Given the description of an element on the screen output the (x, y) to click on. 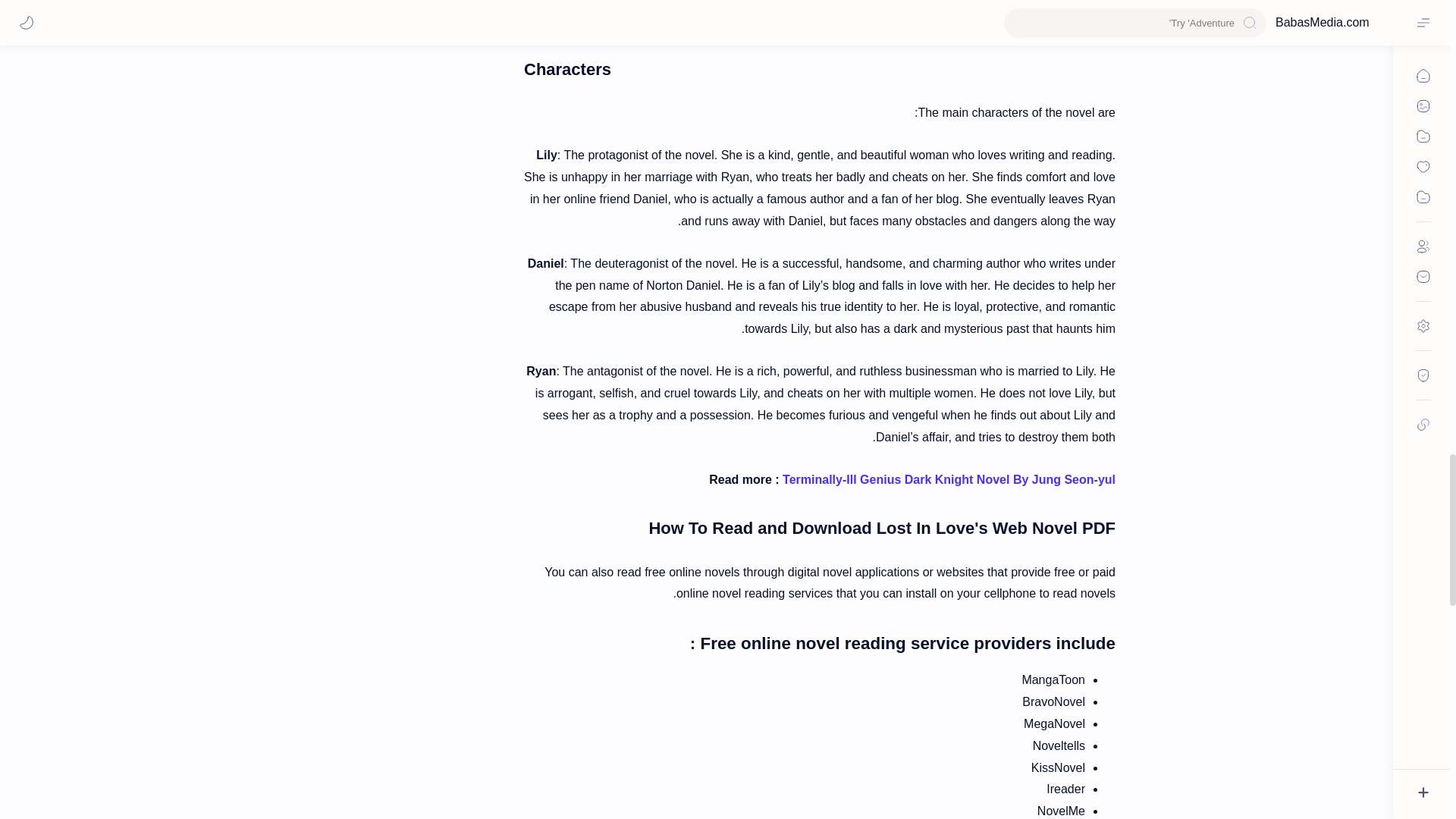
Terminally-Ill Genius Dark Knight Novel By Jung Seon-yul (949, 479)
